Given the description of an element on the screen output the (x, y) to click on. 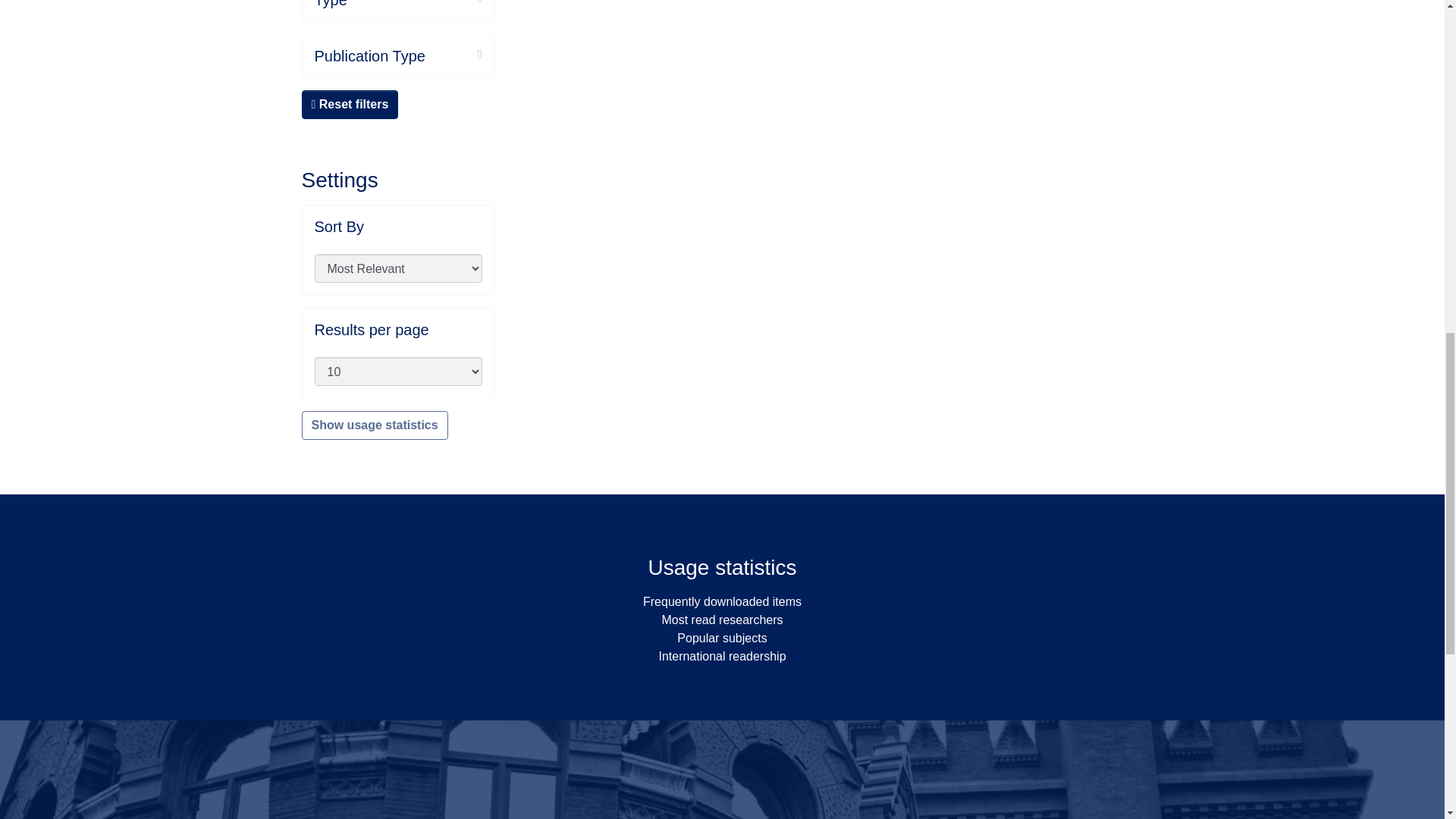
Popular subjects (722, 637)
Type (397, 4)
Publication Type (397, 55)
Expand filter (453, 54)
Frequently downloaded items (722, 601)
Most read researchers (722, 619)
International readership (722, 656)
Reset filters (349, 104)
Expand filter (414, 3)
